Given the description of an element on the screen output the (x, y) to click on. 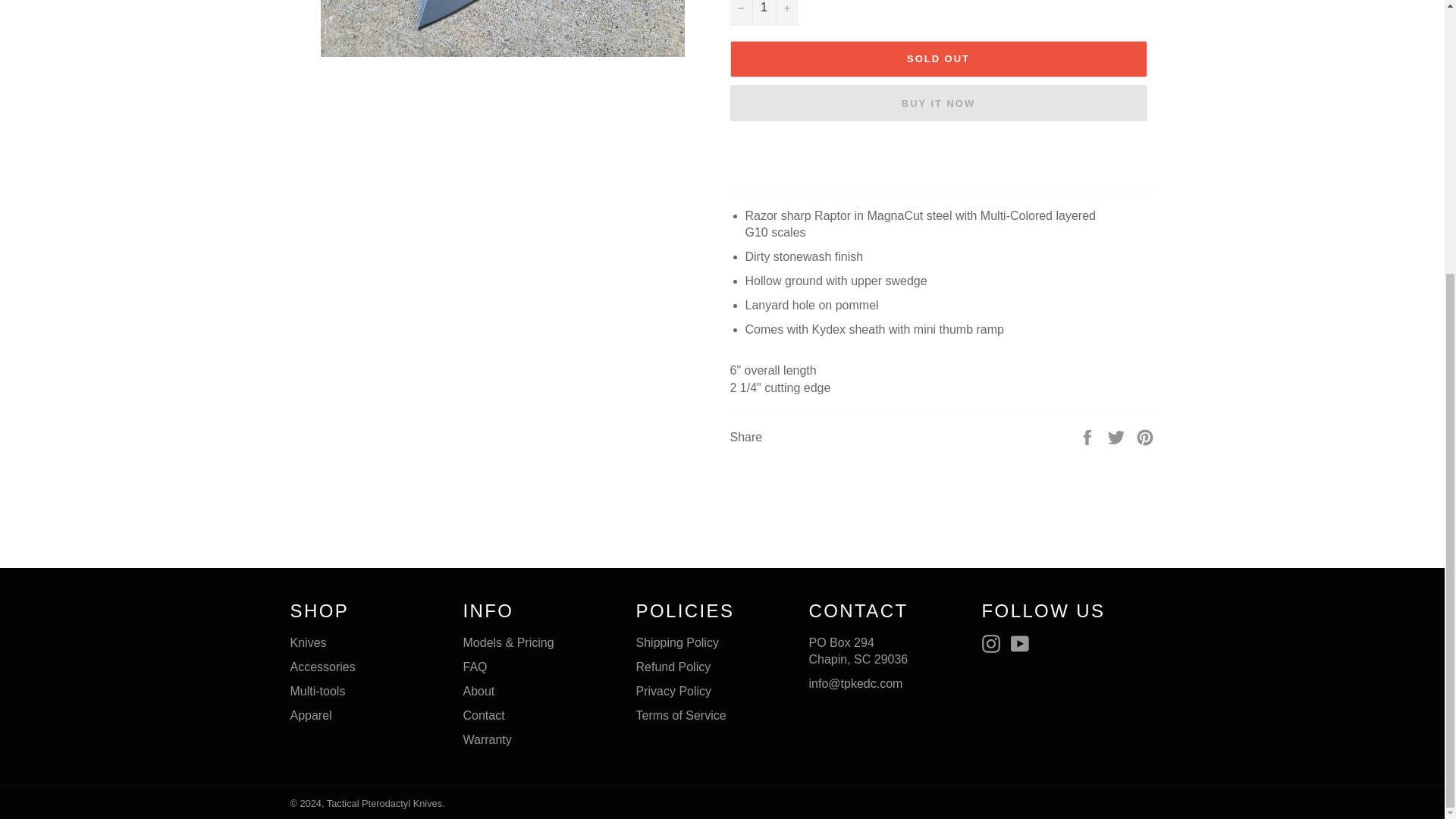
Tactical Pterodactyl Knives on Instagram (994, 643)
Tweet on Twitter (1117, 436)
SOLD OUT (938, 58)
BUY IT NOW (938, 103)
Tweet on Twitter (1117, 436)
Share on Facebook (1088, 436)
Pin on Pinterest (1144, 436)
Share on Facebook (1088, 436)
Tactical Pterodactyl Knives on YouTube (1023, 643)
1 (763, 12)
